Given the description of an element on the screen output the (x, y) to click on. 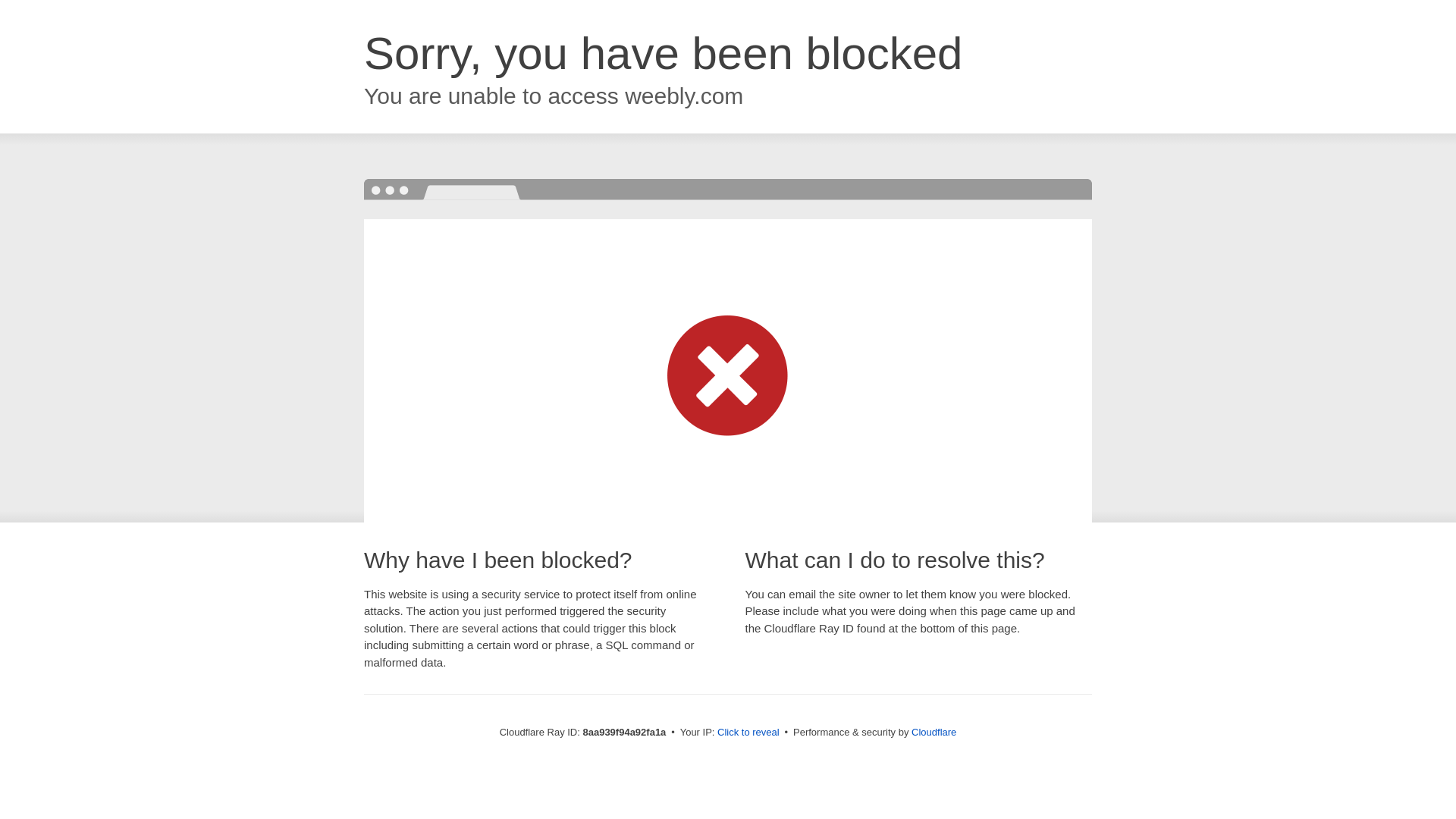
Click to reveal (747, 732)
Cloudflare (933, 731)
